Given the description of an element on the screen output the (x, y) to click on. 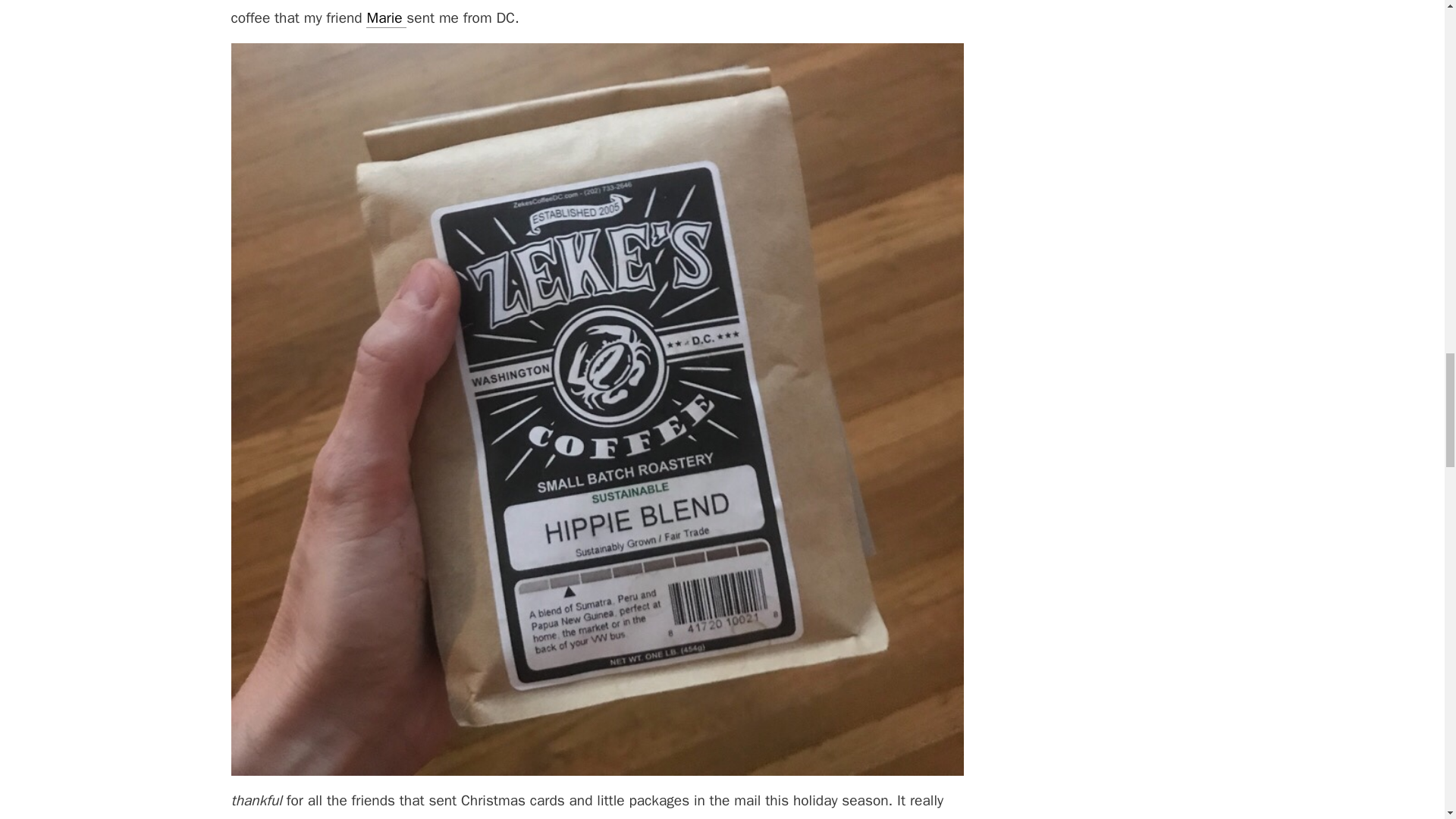
Marie (386, 18)
